Given the description of an element on the screen output the (x, y) to click on. 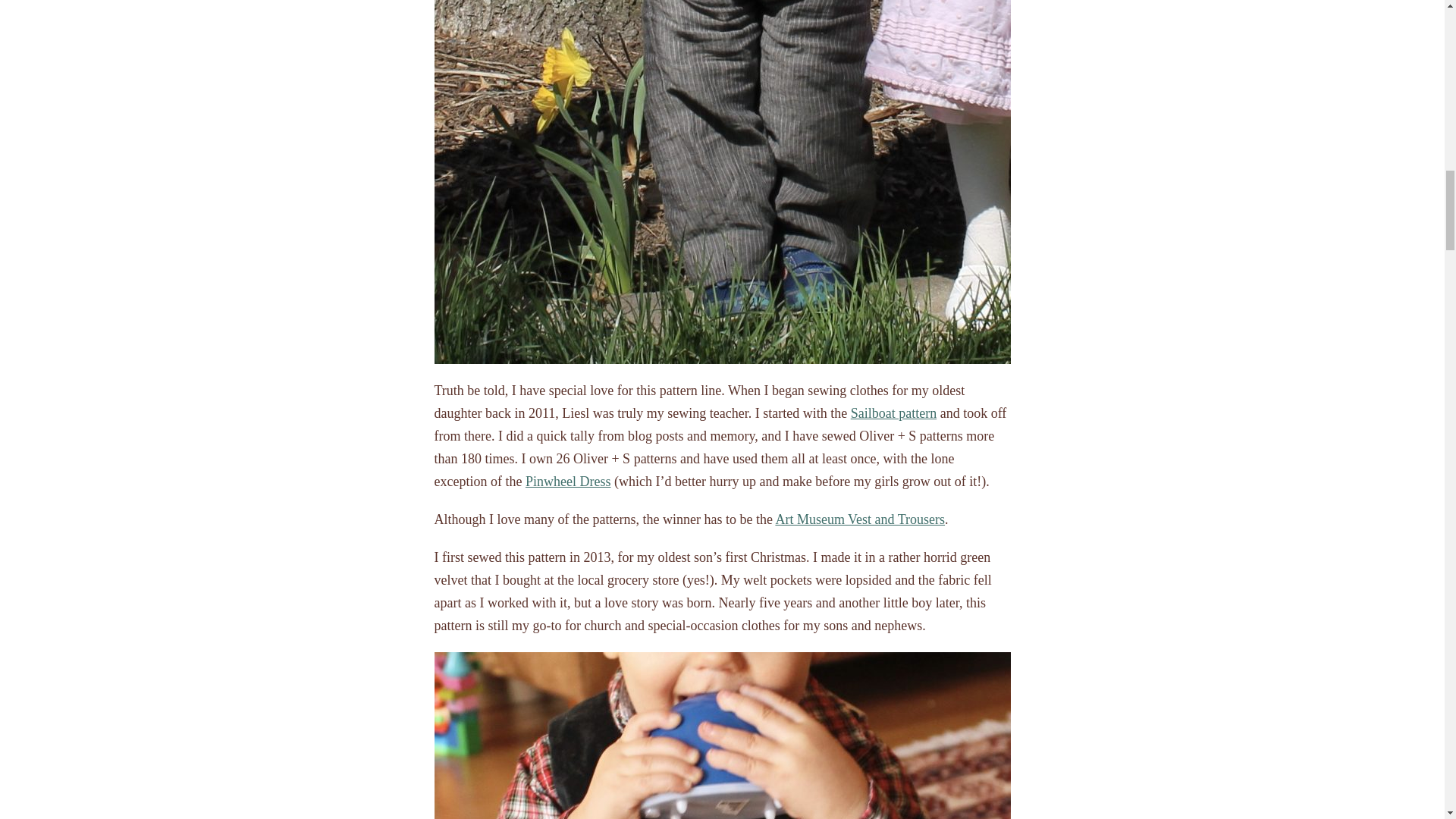
Sailboat pattern (893, 412)
Pinwheel Dress (567, 481)
Art Museum Vest and Trousers (859, 519)
